Given the description of an element on the screen output the (x, y) to click on. 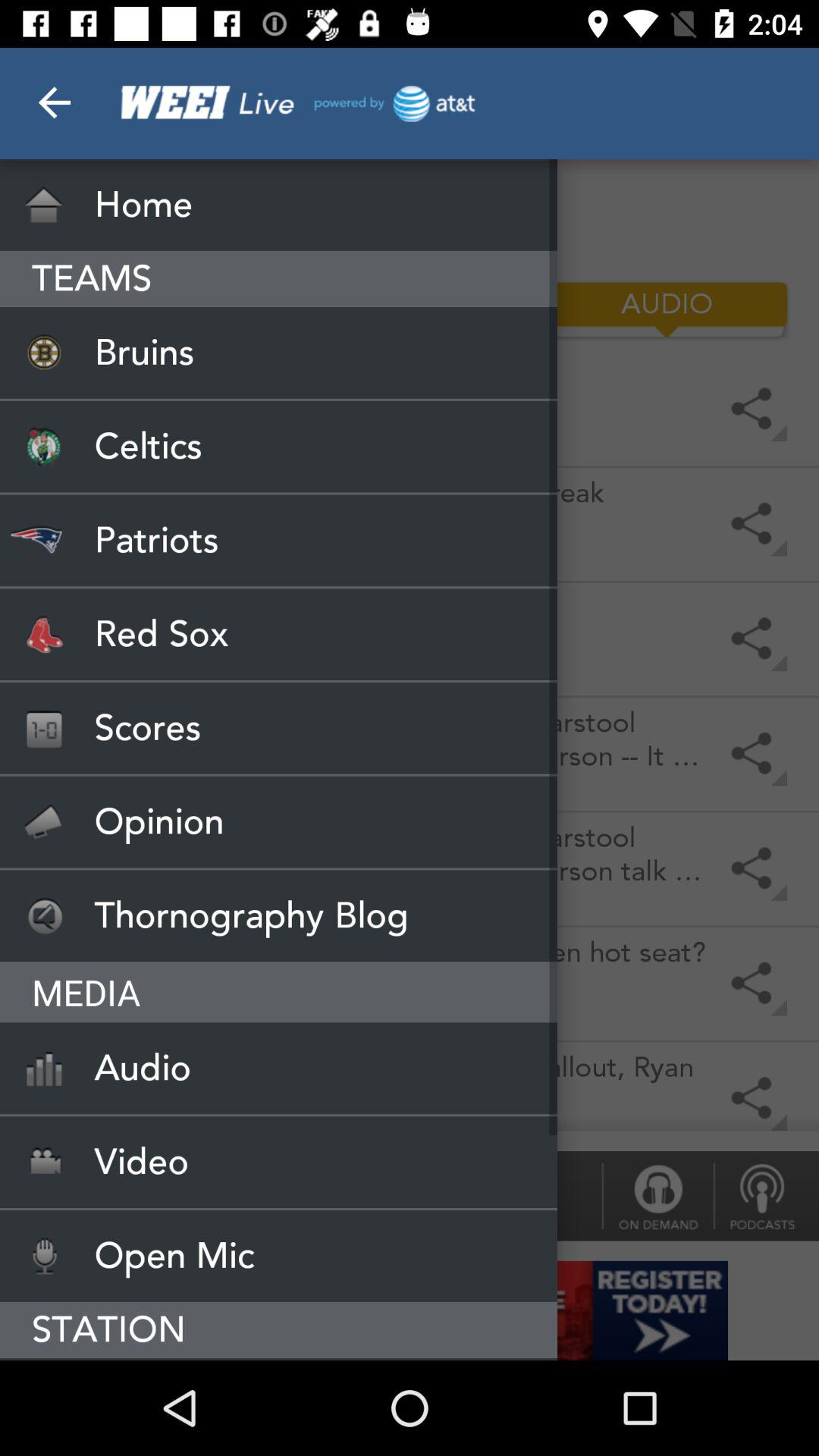
turn off icon above the teams (278, 204)
